Given the description of an element on the screen output the (x, y) to click on. 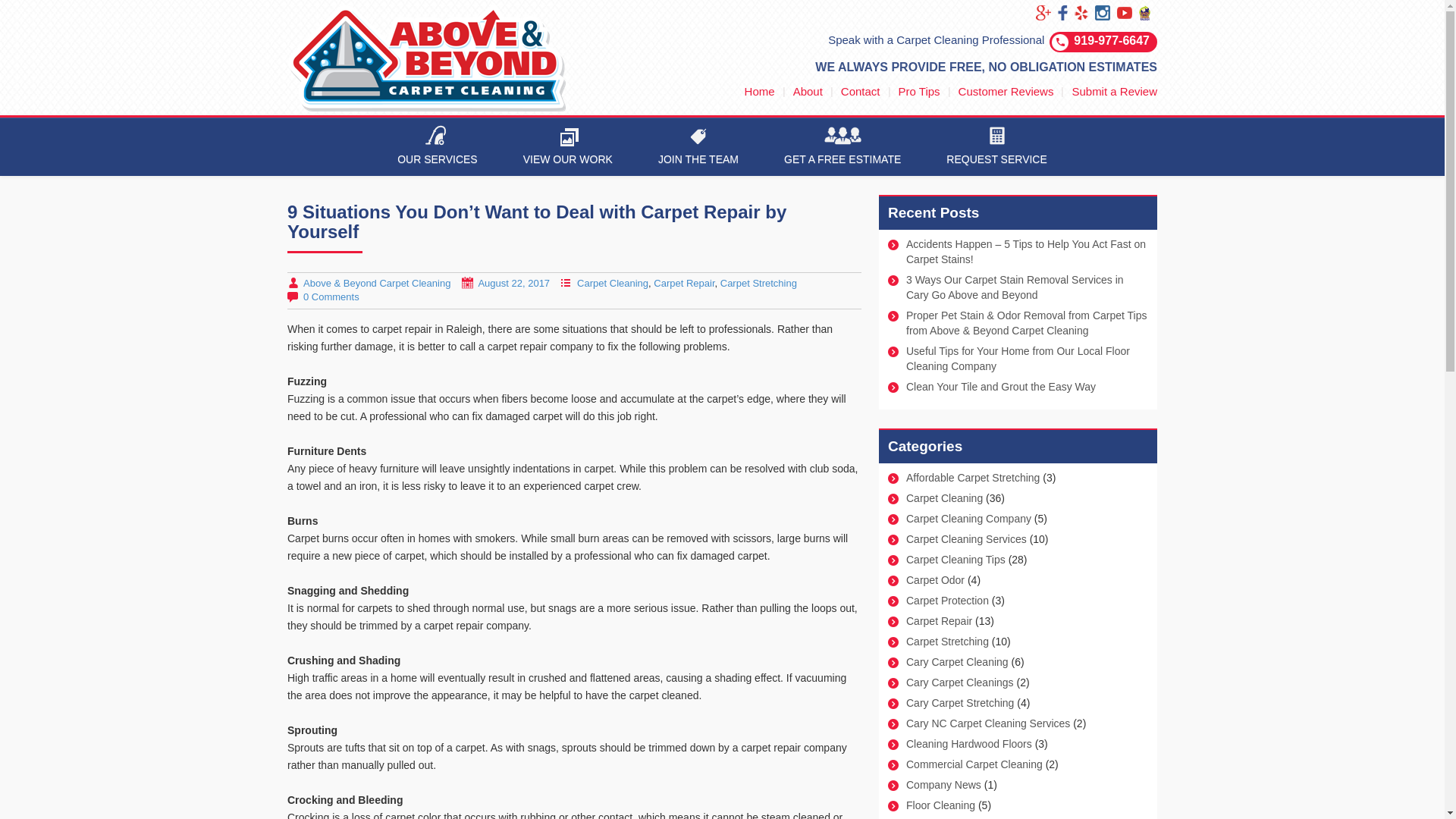
OUR SERVICES (437, 146)
Submit a Review (1114, 91)
919-977-6647 (1112, 40)
GET A FREE ESTIMATE (842, 146)
Contact (860, 91)
About (807, 91)
Home (759, 91)
Customer Reviews (1006, 91)
VIEW OUR WORK (567, 146)
JOIN THE TEAM (697, 146)
